Given the description of an element on the screen output the (x, y) to click on. 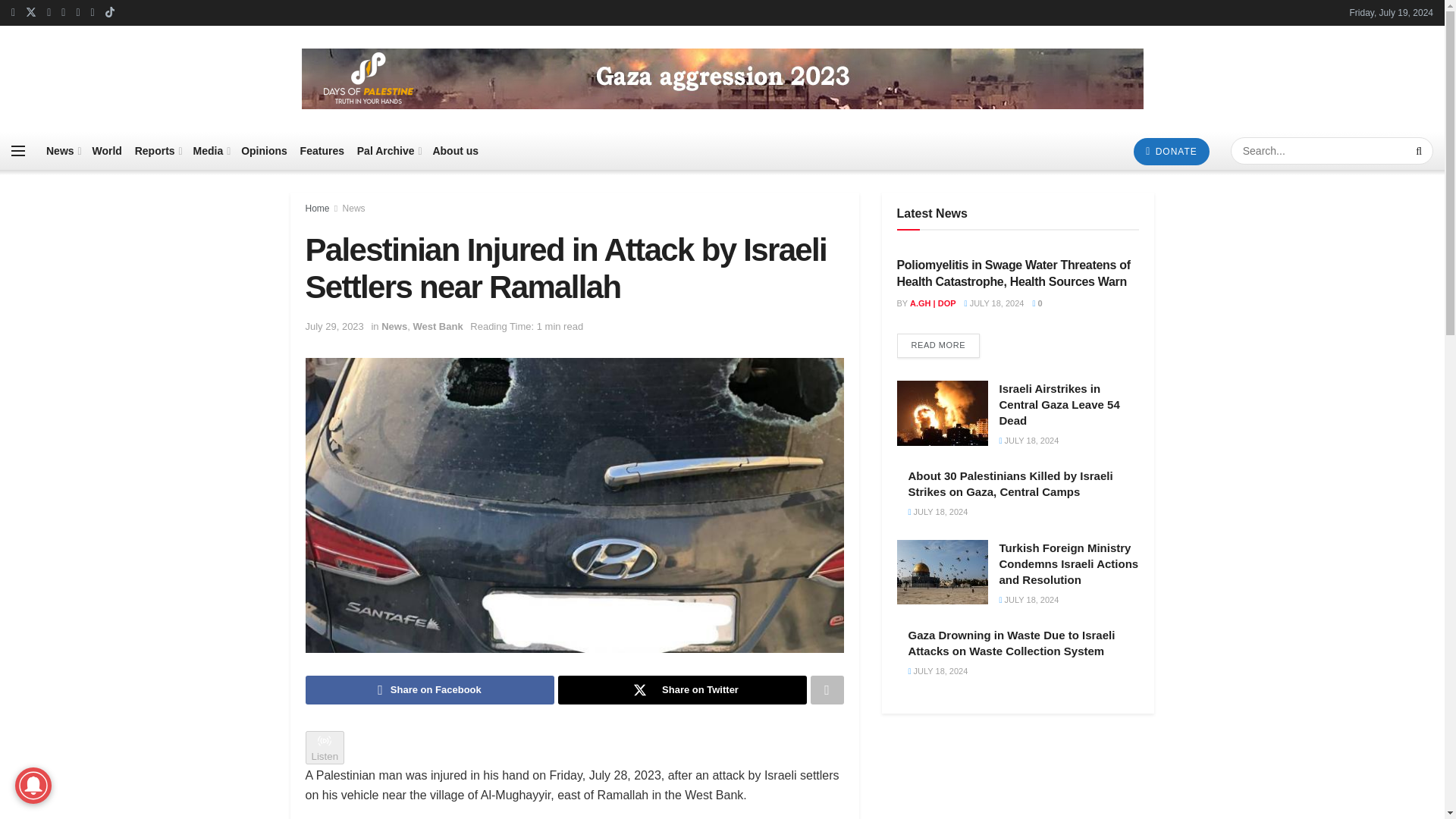
Israeli Airstrikes in Central Gaza Leave 54 Dead 3 (941, 412)
Pal Archive (388, 150)
Features (321, 150)
Opinions (263, 150)
Media (210, 150)
Reports (157, 150)
